Given the description of an element on the screen output the (x, y) to click on. 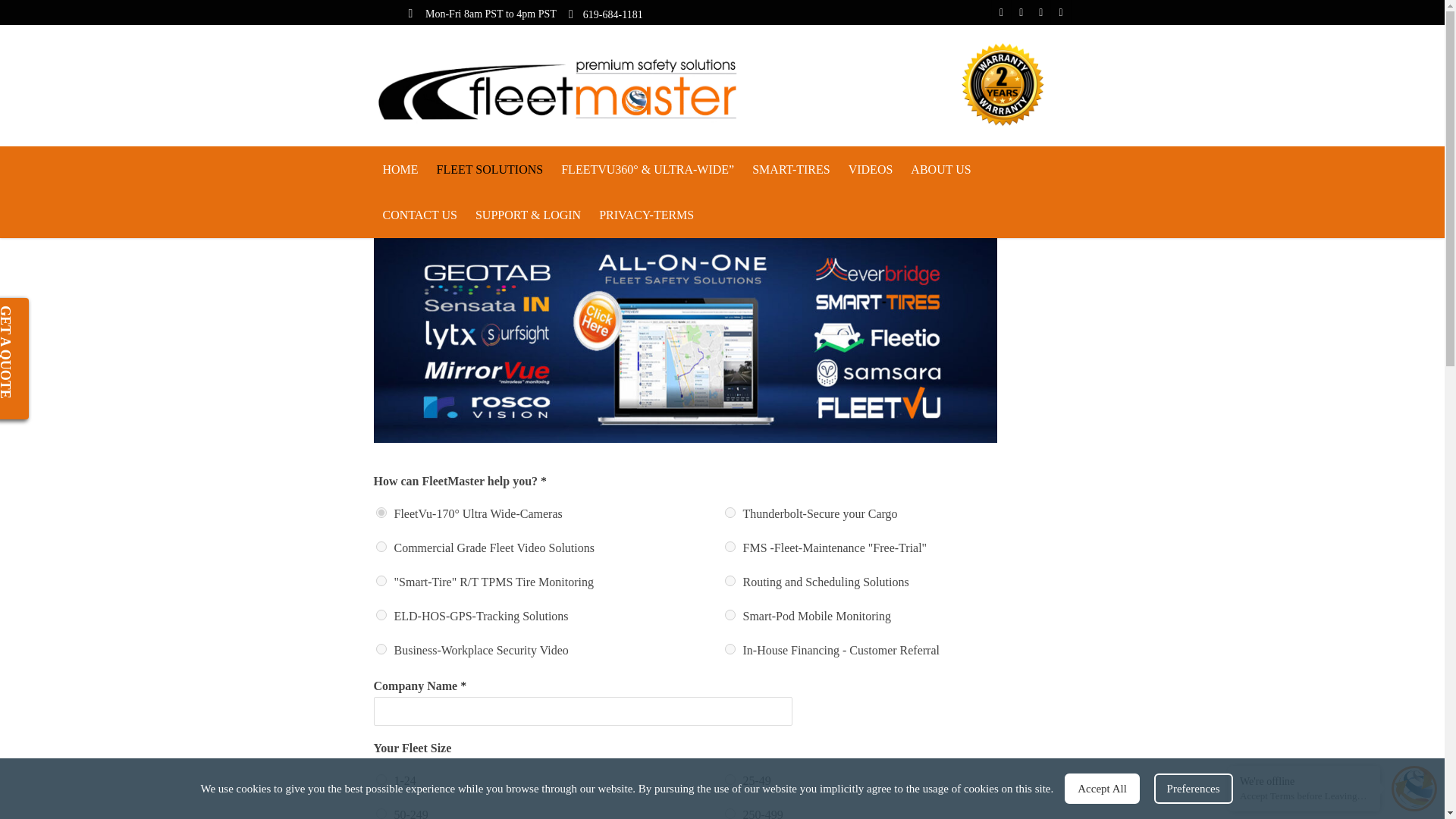
25-49 (730, 778)
We're offline (1304, 780)
Thunderbolt-Secure your Cargo (730, 511)
Smart-Pod Mobile Monitoring (730, 614)
HOME (400, 169)
Routing and Scheduling Solutions (730, 580)
250-499 (730, 813)
ELD-HOS-GPS-Tracking Solutions (381, 614)
1-24 (381, 778)
Business-Workplace Security Video (381, 648)
Commercial Grade Fleet Video Solutions (381, 546)
Accept Terms before Leaving message (1304, 796)
50-249 (381, 813)
FLEET SOLUTIONS (489, 169)
FMS -Fleet-Maintenance "Free-Trial" (730, 546)
